Given the description of an element on the screen output the (x, y) to click on. 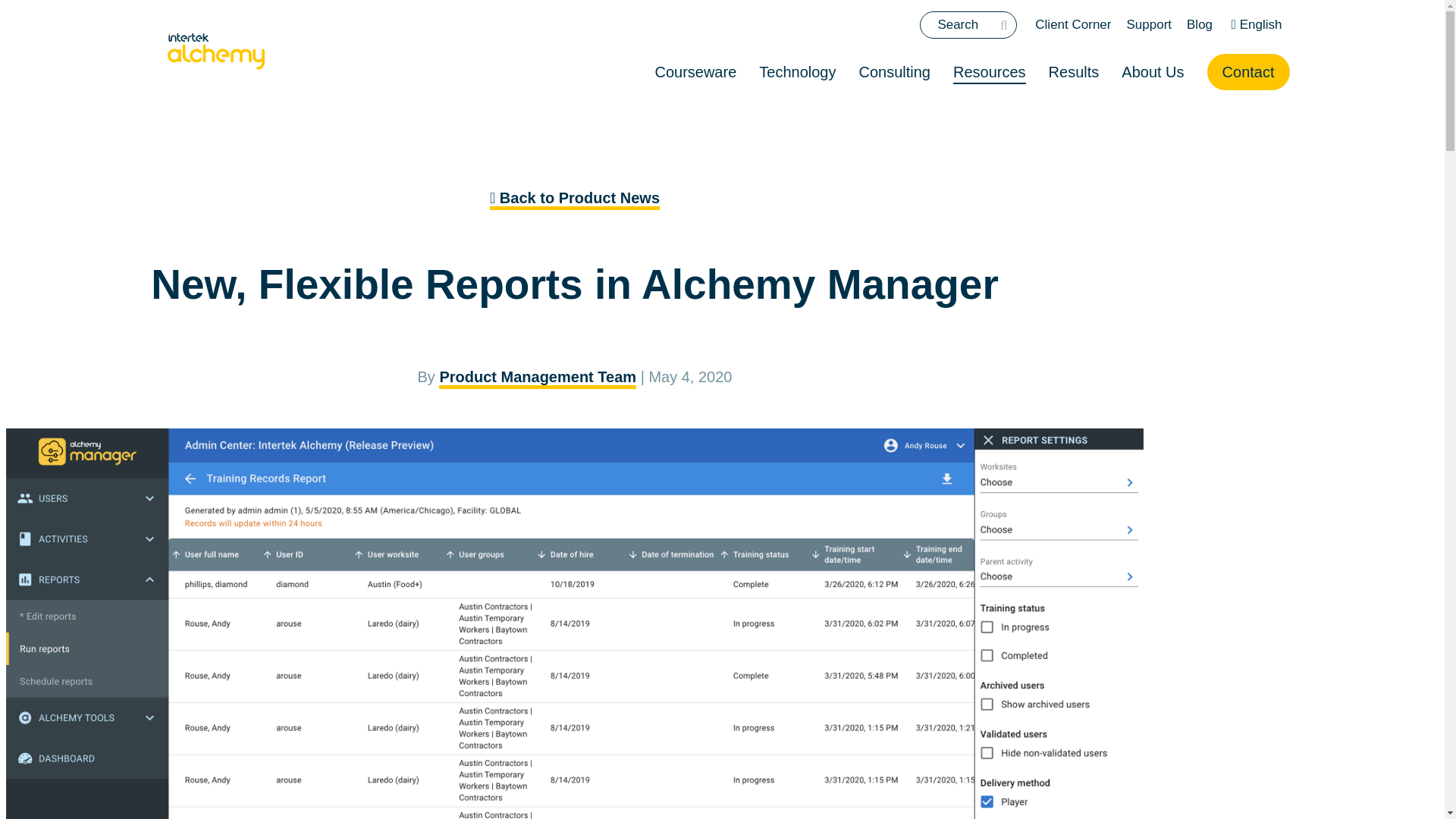
Blog (1199, 24)
Support (1148, 24)
Contact (1248, 72)
Client Corner (1072, 24)
